Given the description of an element on the screen output the (x, y) to click on. 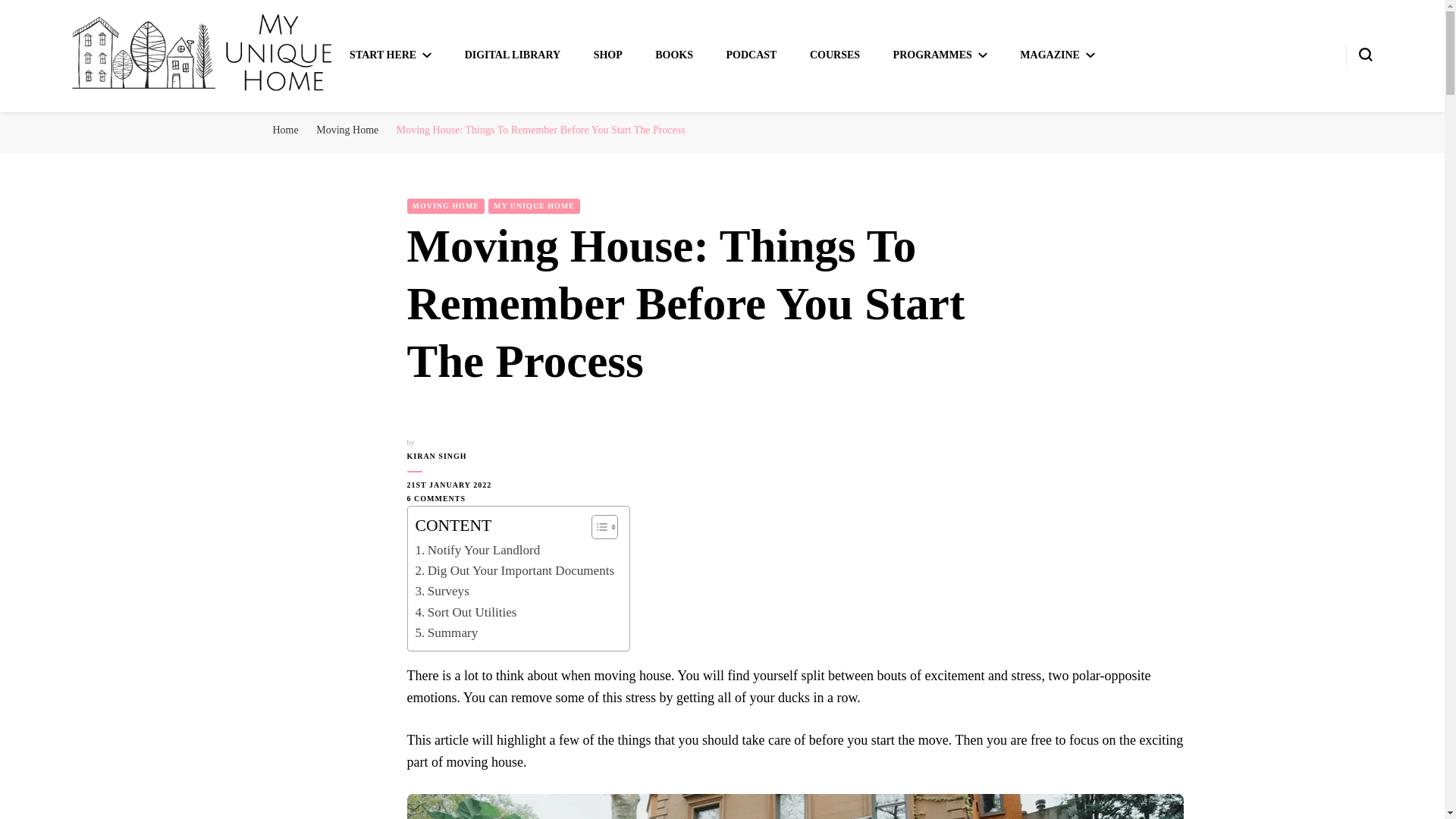
Summary (446, 632)
Sort Out Utilities (465, 611)
Surveys (441, 590)
Dig Out Your Important Documents (514, 570)
Notify Your Landlord (477, 549)
